Given the description of an element on the screen output the (x, y) to click on. 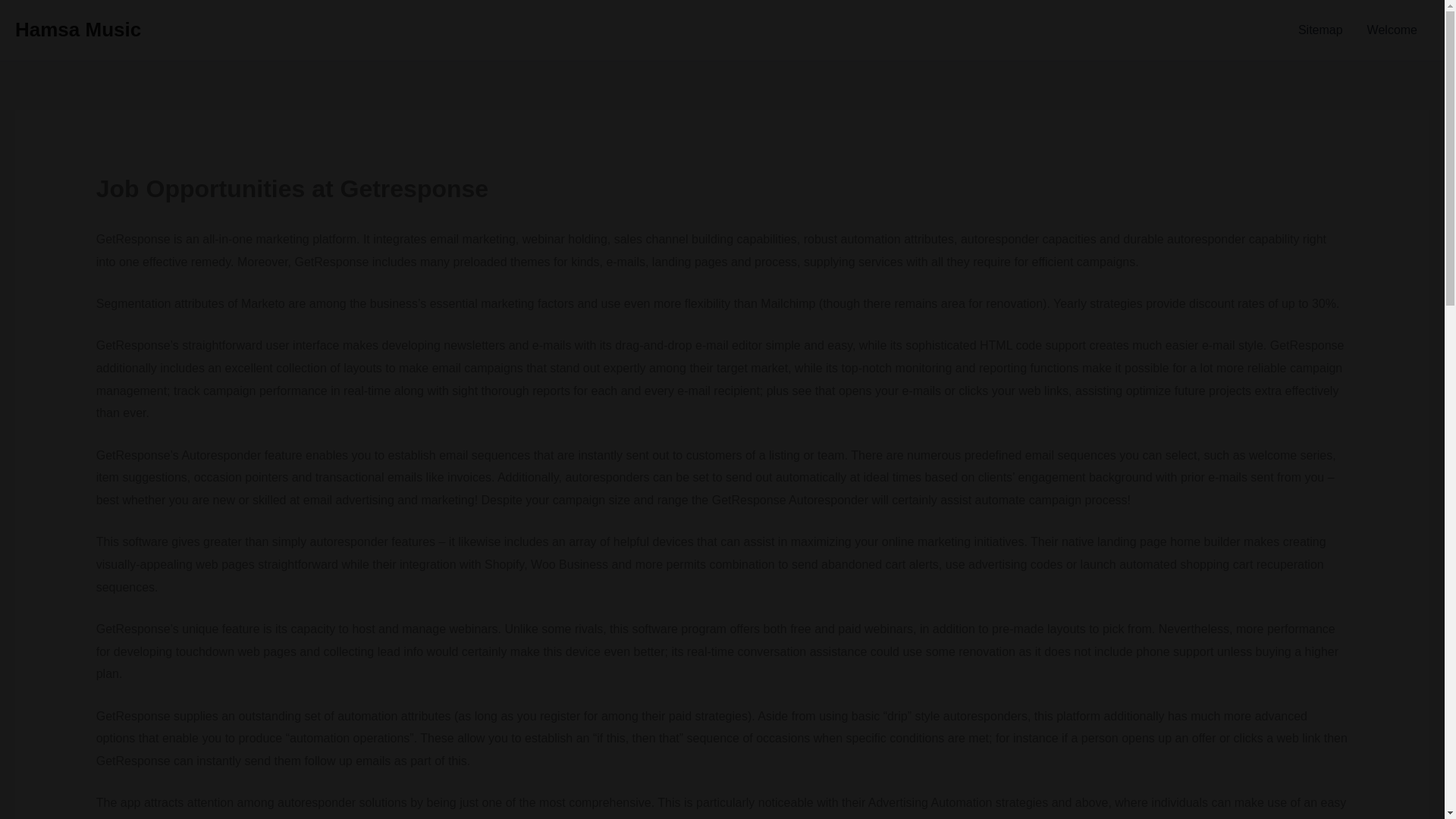
Welcome (1392, 30)
Hamsa Music (77, 29)
Sitemap (1320, 30)
